Given the description of an element on the screen output the (x, y) to click on. 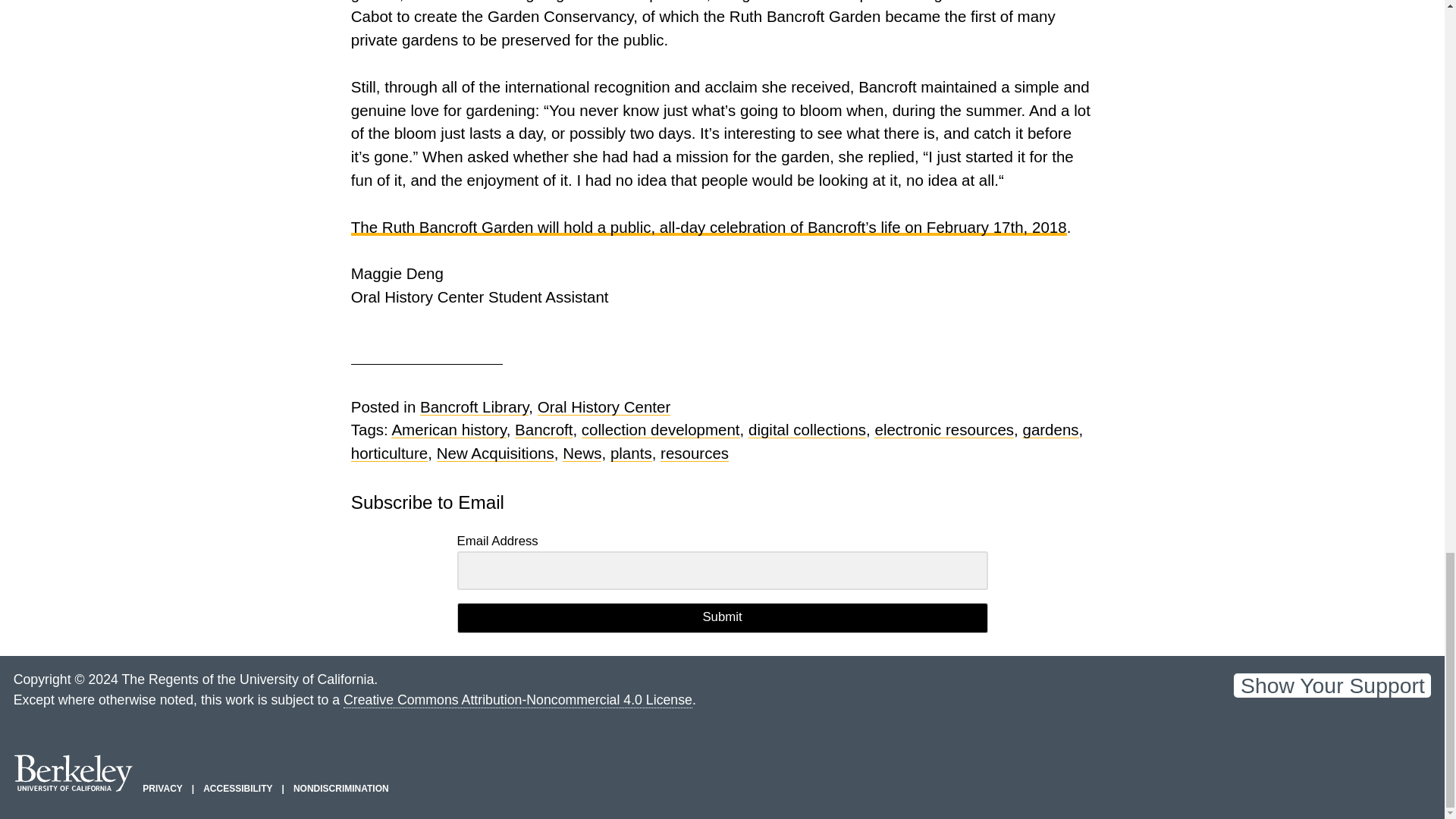
digital collections (807, 429)
Oral History Center (604, 406)
American history (448, 429)
horticulture (389, 452)
Bancroft Library (474, 406)
gardens (1050, 429)
electronic resources (944, 429)
Bancroft (543, 429)
collection development (659, 429)
New Acquisitions (495, 452)
News (581, 452)
